Given the description of an element on the screen output the (x, y) to click on. 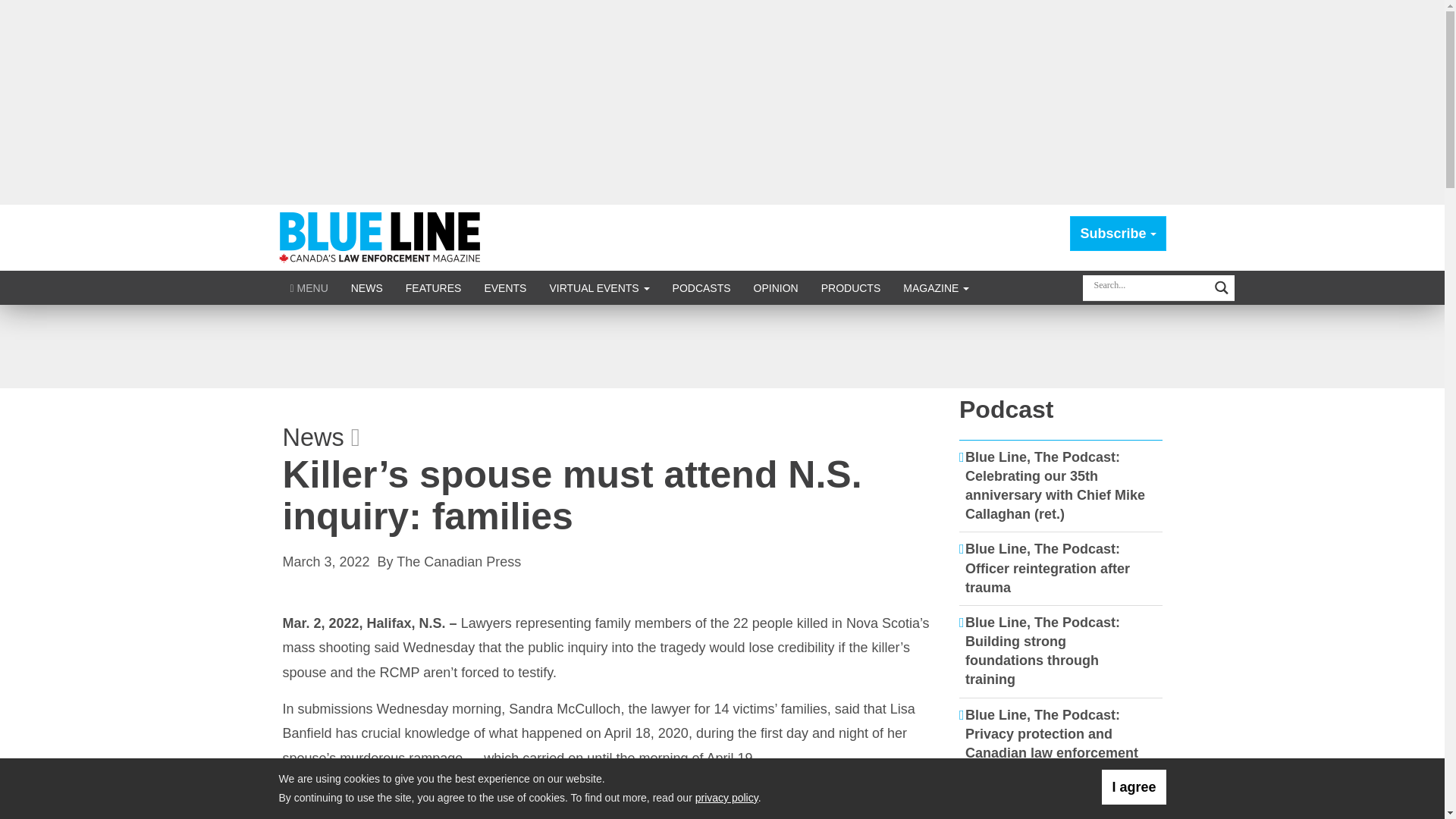
OPINION (775, 287)
VIRTUAL EVENTS (599, 287)
FEATURES (433, 287)
3rd party ad content (721, 346)
Click to show site navigation (309, 287)
NEWS (366, 287)
PRODUCTS (850, 287)
Subscribe (1118, 233)
EVENTS (504, 287)
MENU (309, 287)
MAGAZINE (935, 287)
Blue Line (381, 236)
PODCASTS (701, 287)
